Given the description of an element on the screen output the (x, y) to click on. 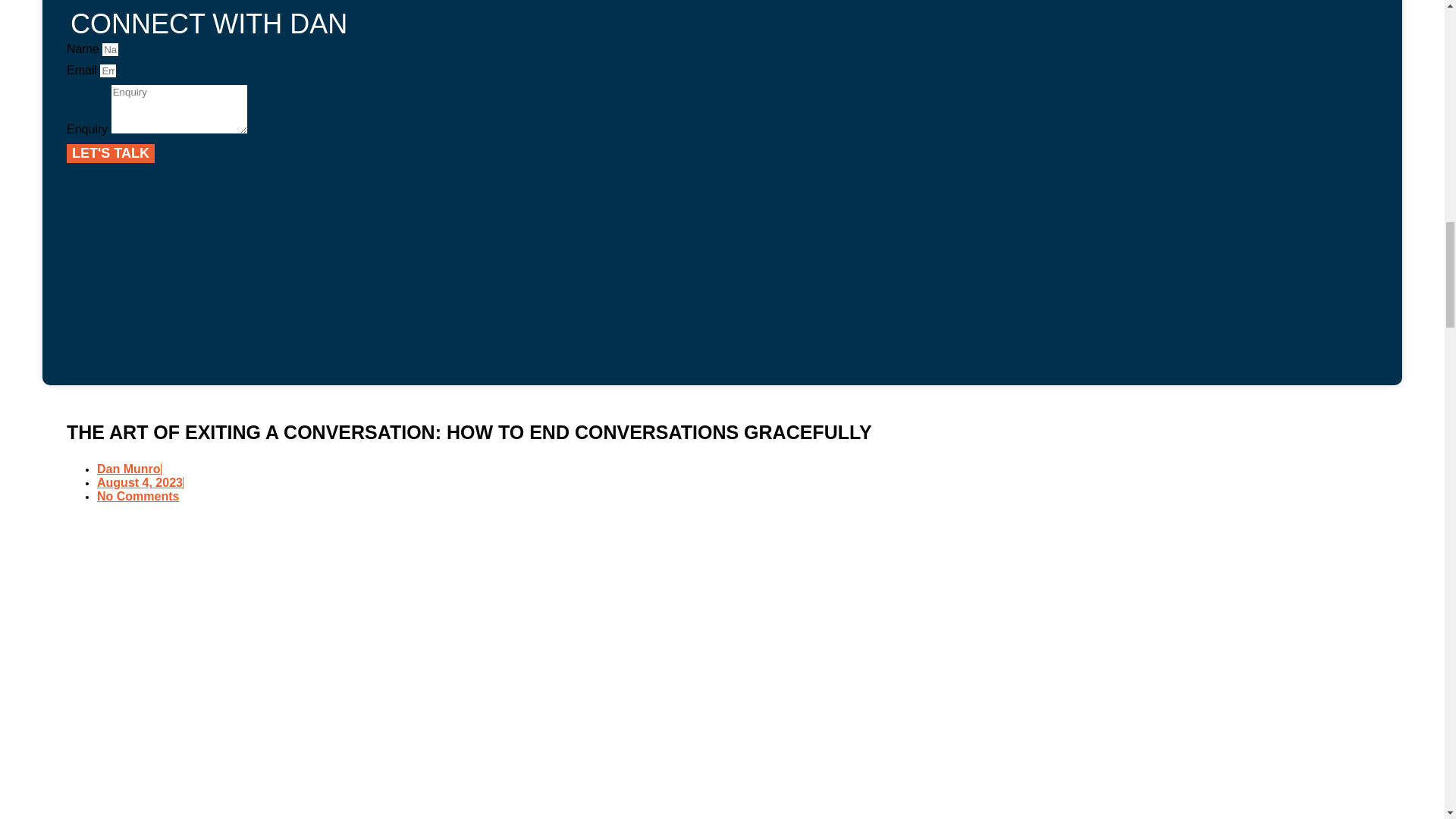
August 4, 2023 (140, 481)
Dan Munro (128, 468)
No Comments (138, 495)
LET'S TALK (110, 153)
